Given the description of an element on the screen output the (x, y) to click on. 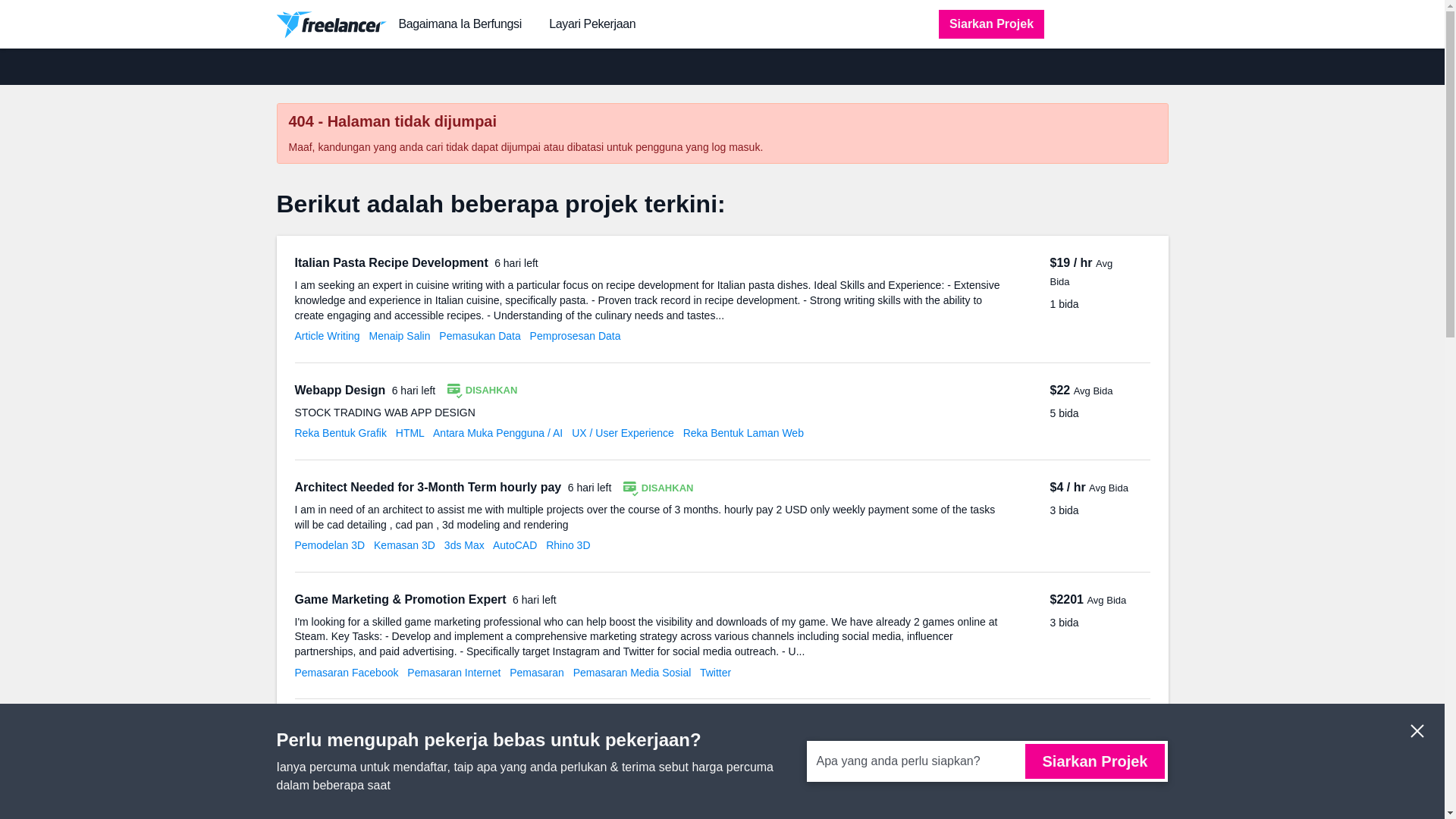
Pemodelan 3D (329, 544)
Pemasaran Facebook (345, 672)
Rhino 3D (567, 544)
Pemasaran (536, 672)
Twitter (715, 672)
Content Creation (438, 799)
Kemasan 3D (404, 544)
Penyuntingan Video (754, 799)
Article Writing (326, 336)
Reka Bentuk Brosur (341, 799)
